Given the description of an element on the screen output the (x, y) to click on. 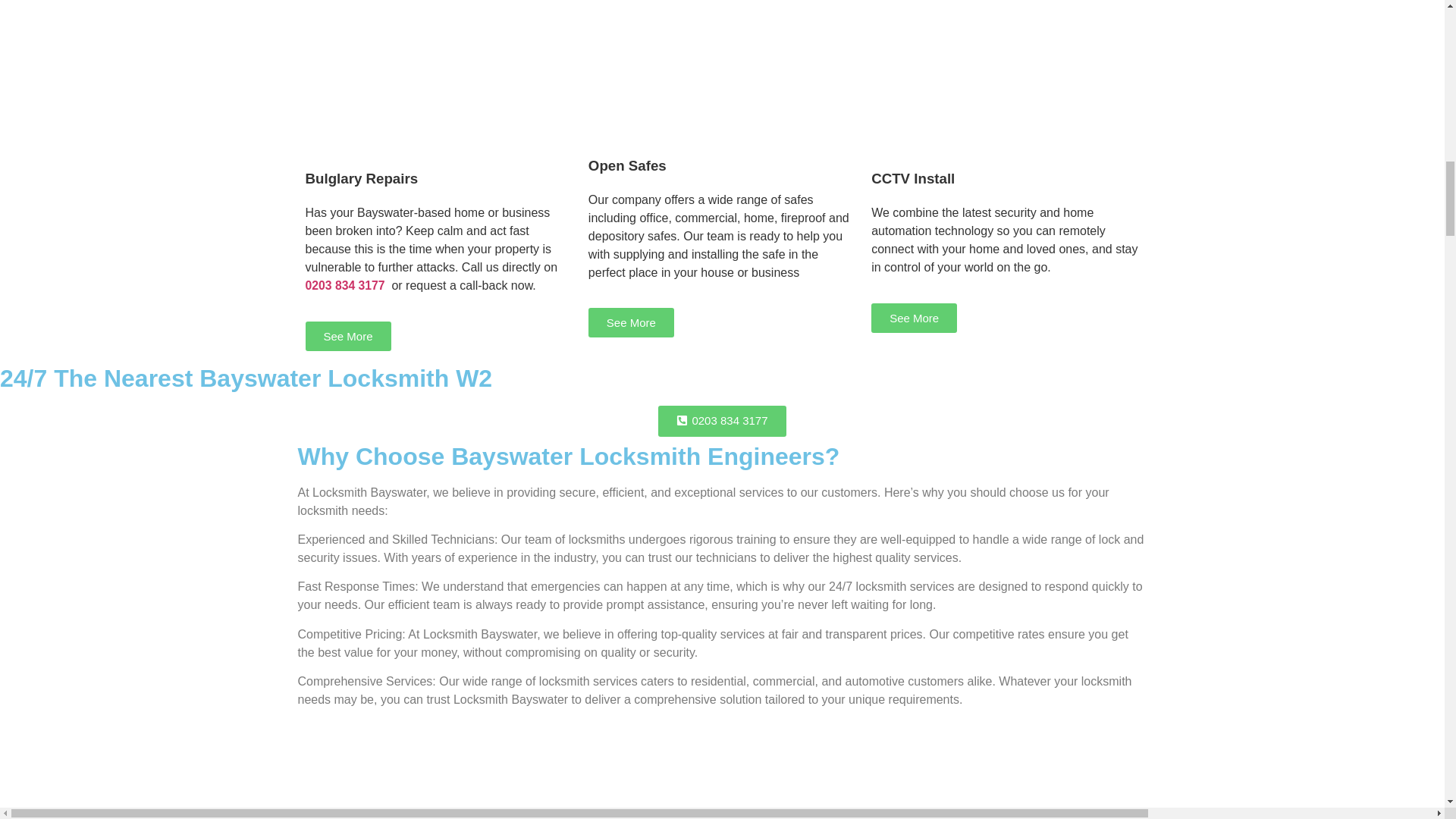
See More (913, 317)
See More (631, 322)
0203 834 3177 (344, 285)
See More (347, 336)
